Given the description of an element on the screen output the (x, y) to click on. 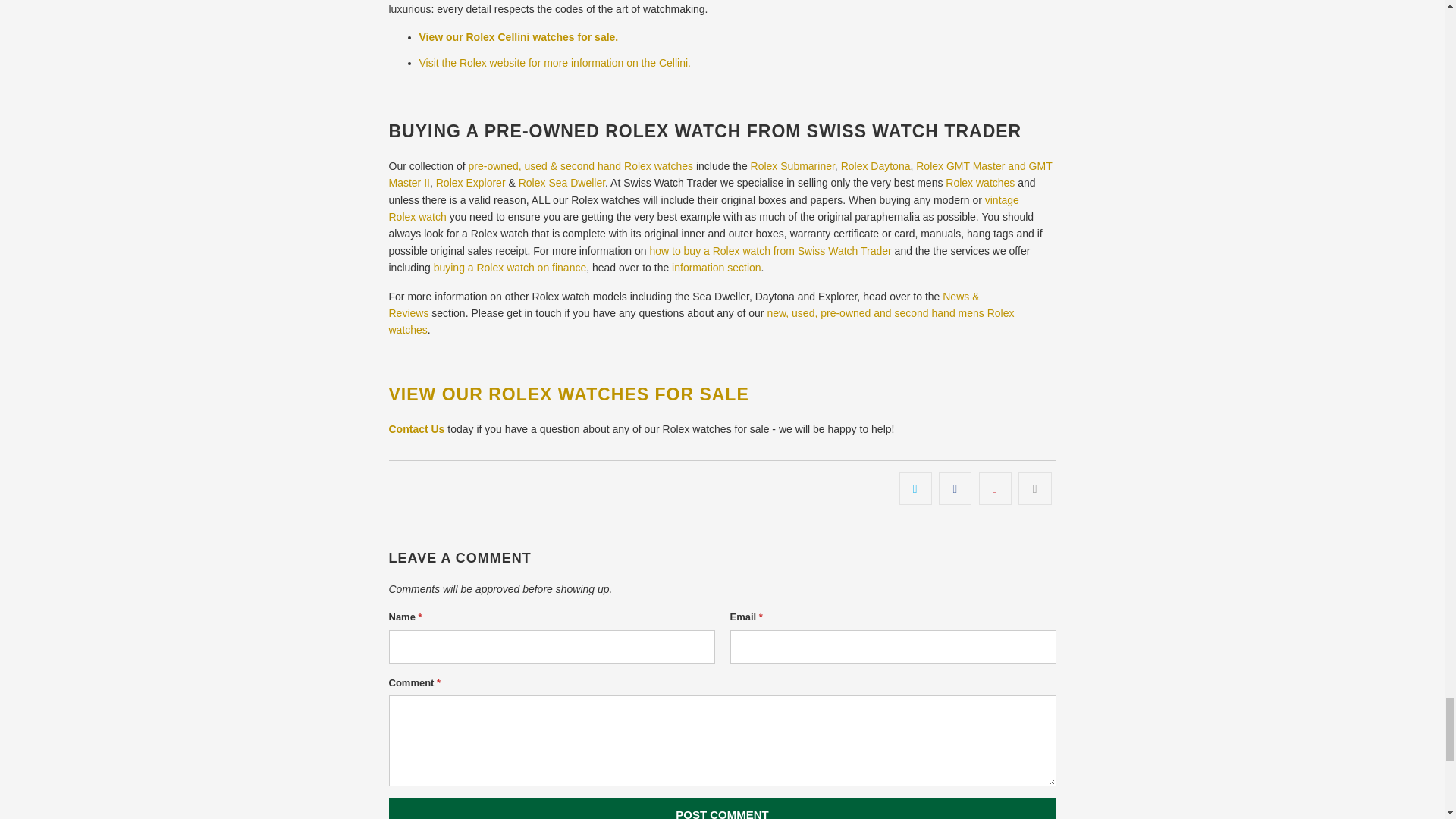
Post comment (721, 808)
